Given the description of an element on the screen output the (x, y) to click on. 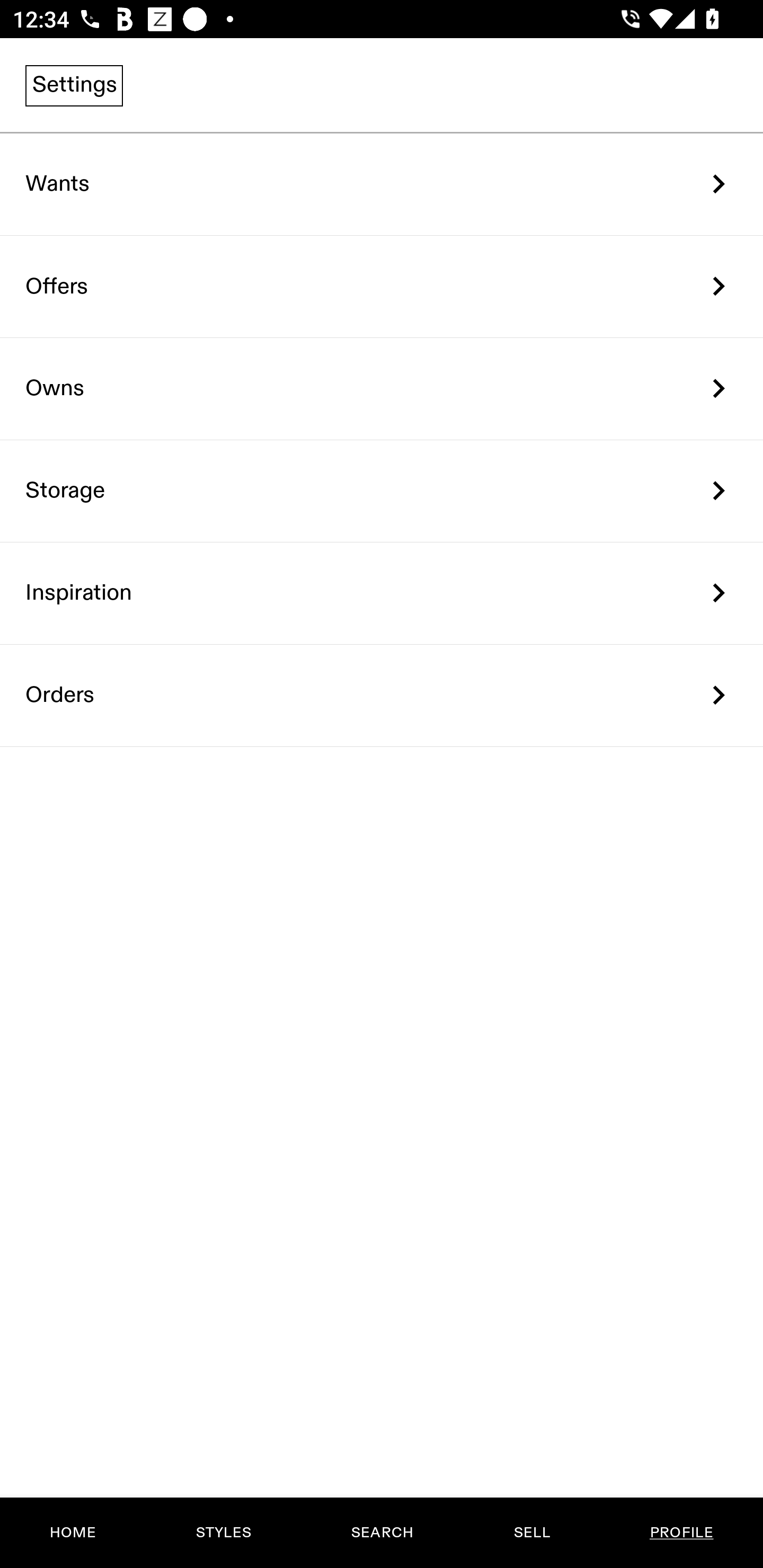
Settings (73, 85)
Wants (381, 184)
Offers (381, 286)
Owns (381, 388)
Storage (381, 491)
Inspiration (381, 593)
Orders (381, 695)
HOME (72, 1532)
STYLES (222, 1532)
SEARCH (381, 1532)
SELL (531, 1532)
PROFILE (681, 1532)
